Given the description of an element on the screen output the (x, y) to click on. 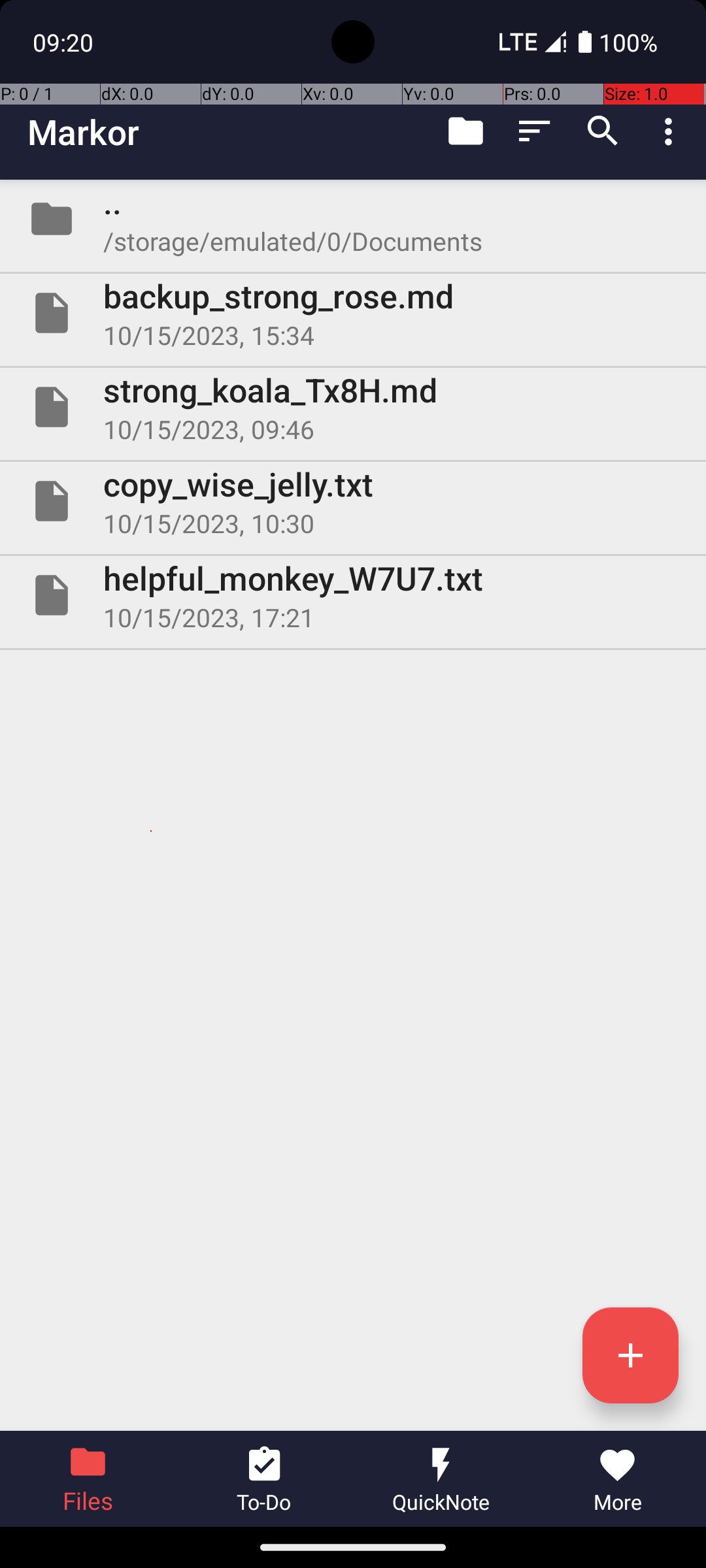
File backup_strong_rose.md  Element type: android.widget.LinearLayout (353, 312)
File strong_koala_Tx8H.md  Element type: android.widget.LinearLayout (353, 406)
File copy_wise_jelly.txt  Element type: android.widget.LinearLayout (353, 500)
File helpful_monkey_W7U7.txt  Element type: android.widget.LinearLayout (353, 594)
09:20 Element type: android.widget.TextView (64, 41)
